Given the description of an element on the screen output the (x, y) to click on. 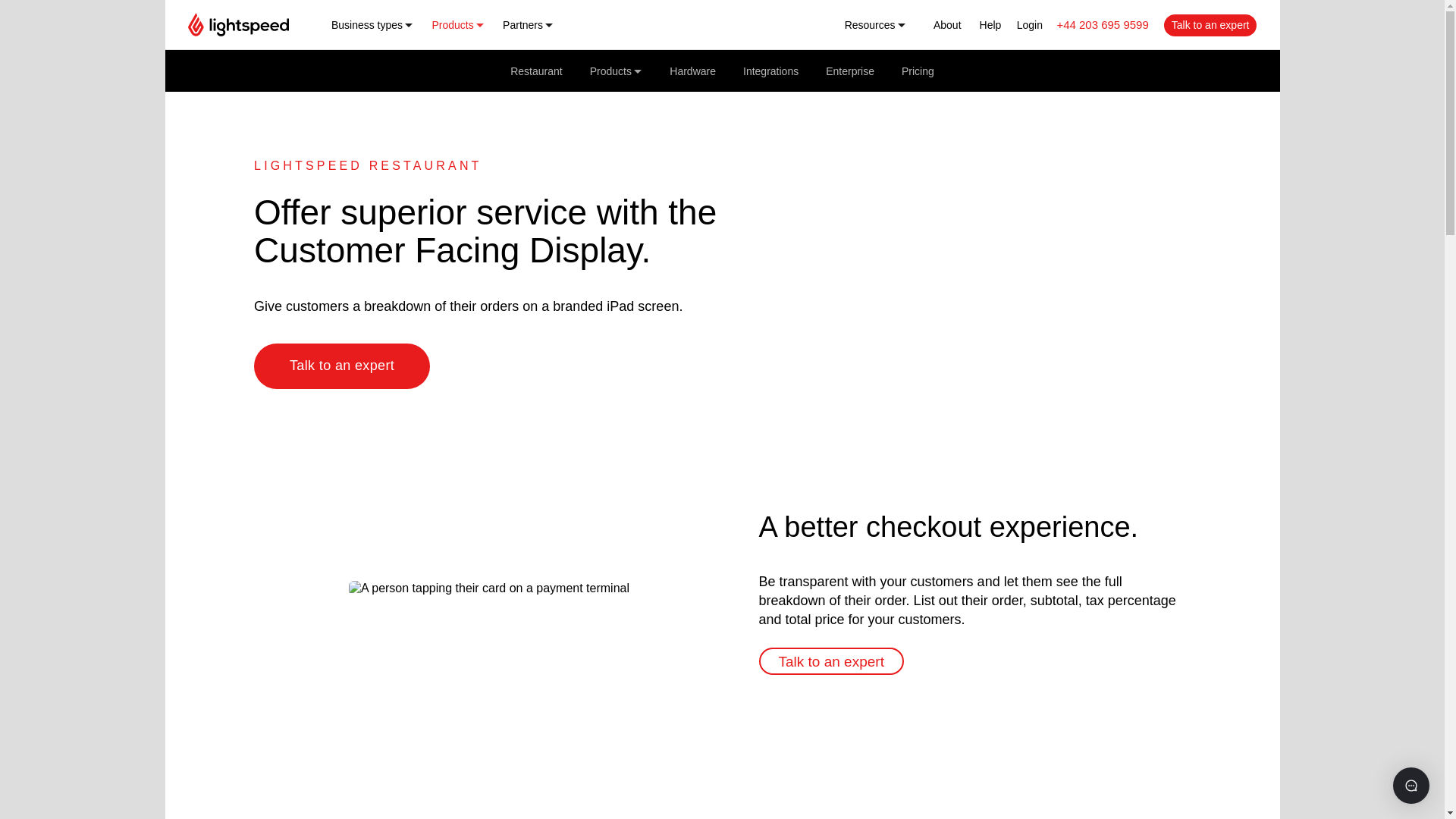
Business types (372, 24)
Talk to an expert (830, 660)
Lightspeed Commerce (237, 24)
Products (457, 24)
Talk to an expert (341, 366)
